Given the description of an element on the screen output the (x, y) to click on. 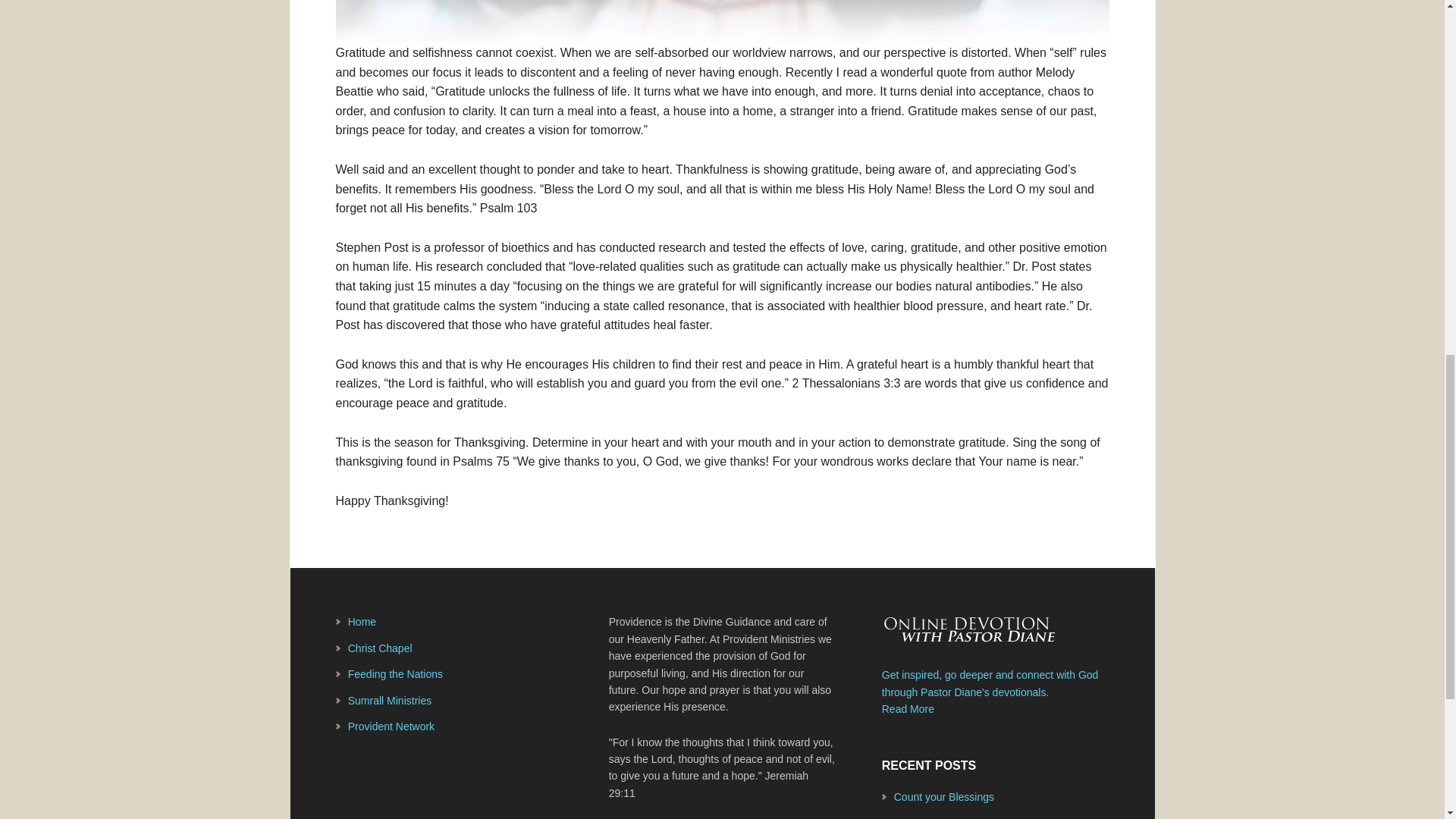
Sumrall Ministries (388, 700)
Count your Blessings (943, 797)
Home (361, 621)
Merry Christmas! (934, 818)
Christ Chapel (379, 648)
Feeding the Nations (394, 674)
Provident Network (390, 726)
